Given the description of an element on the screen output the (x, y) to click on. 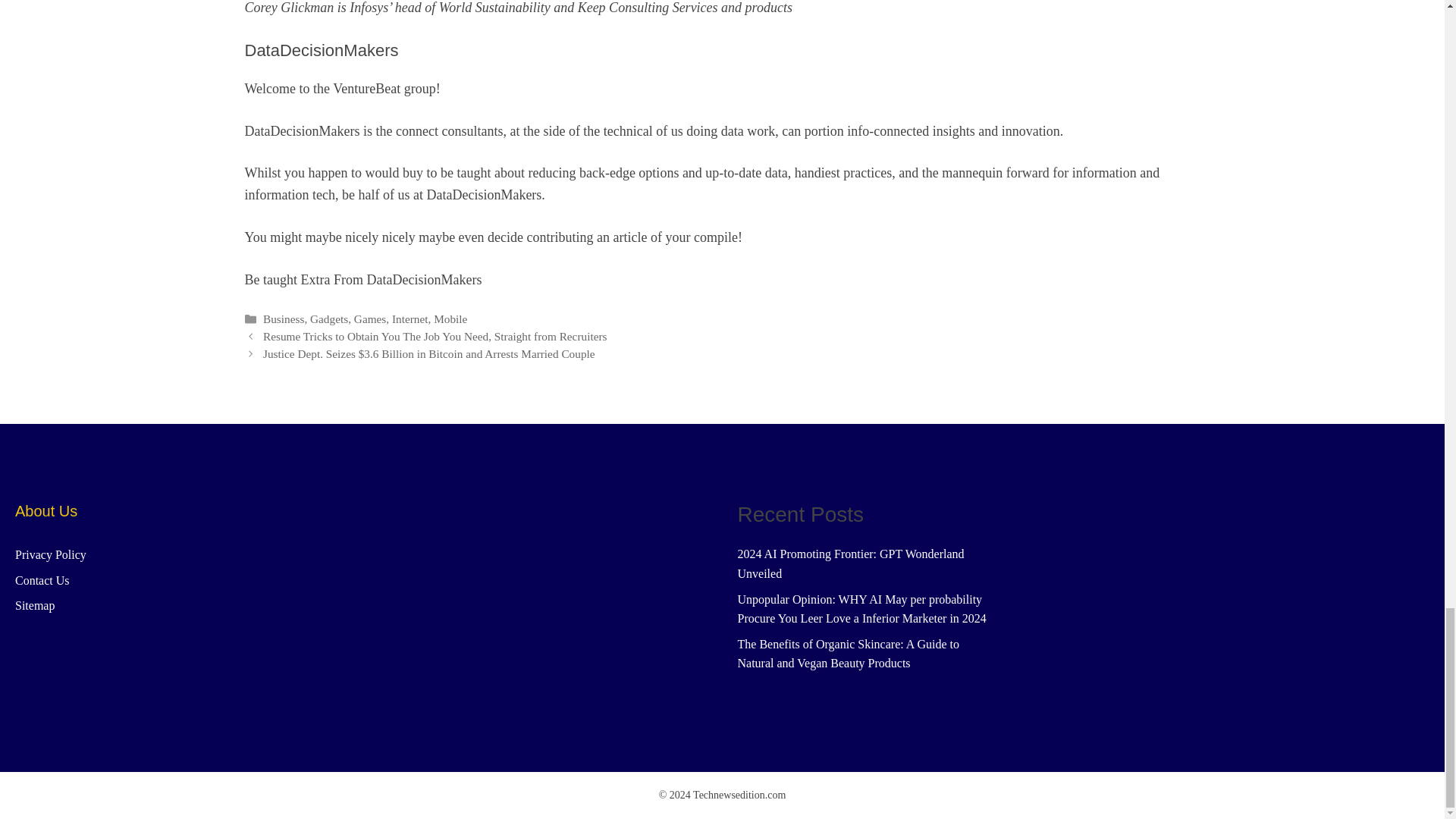
Mobile (450, 318)
Business (283, 318)
Games (369, 318)
Privacy Policy (49, 554)
Contact Us (41, 580)
2024 AI Promoting Frontier: GPT Wonderland Unveiled (849, 563)
Gadgets (328, 318)
Sitemap (34, 604)
Internet (409, 318)
